Given the description of an element on the screen output the (x, y) to click on. 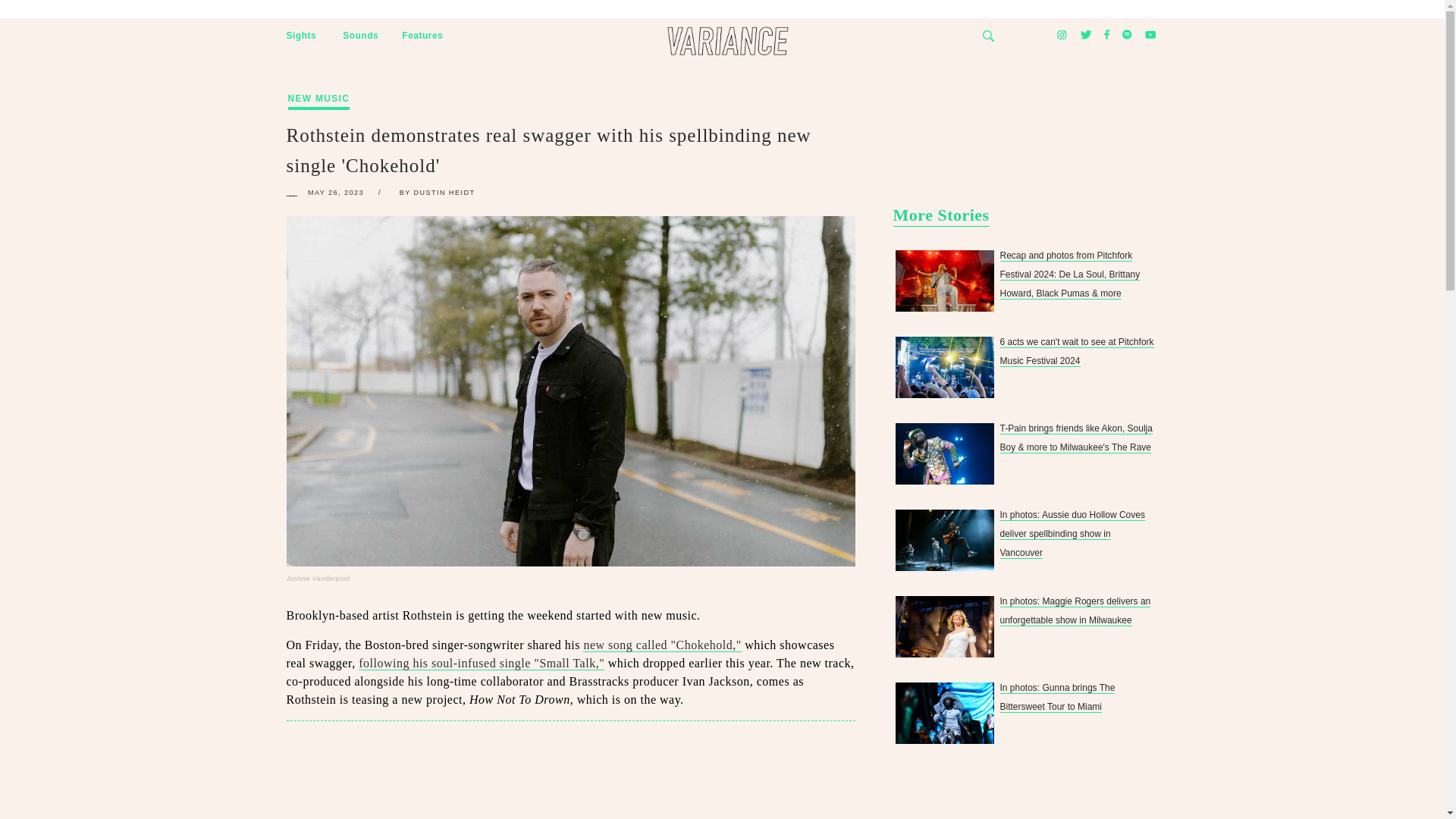
6 acts we can't wait to see at Pitchfork Music Festival 2024 (943, 367)
new song called "Chokehold," (662, 644)
NEW MUSIC (319, 83)
Sounds (360, 36)
Sights (301, 36)
following his soul-infused single "Small Talk," (481, 663)
Features (421, 36)
Advertisement (571, 777)
6 acts we can't wait to see at Pitchfork Music Festival 2024 (943, 367)
